Given the description of an element on the screen output the (x, y) to click on. 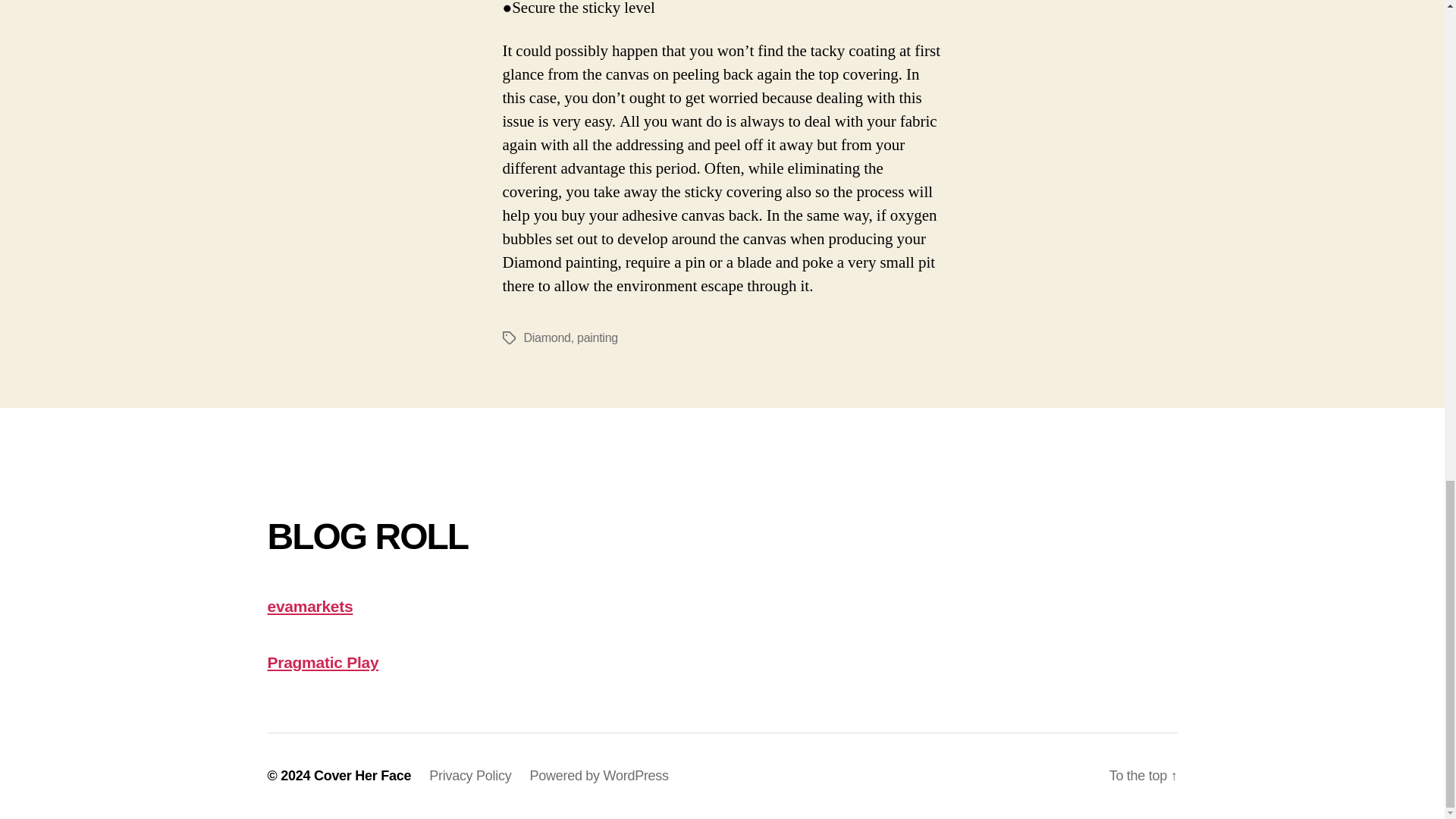
evamarkets (309, 606)
Privacy Policy (470, 775)
Cover Her Face (362, 775)
Diamond (546, 337)
Pragmatic Play (322, 661)
Powered by WordPress (598, 775)
painting (596, 337)
